Given the description of an element on the screen output the (x, y) to click on. 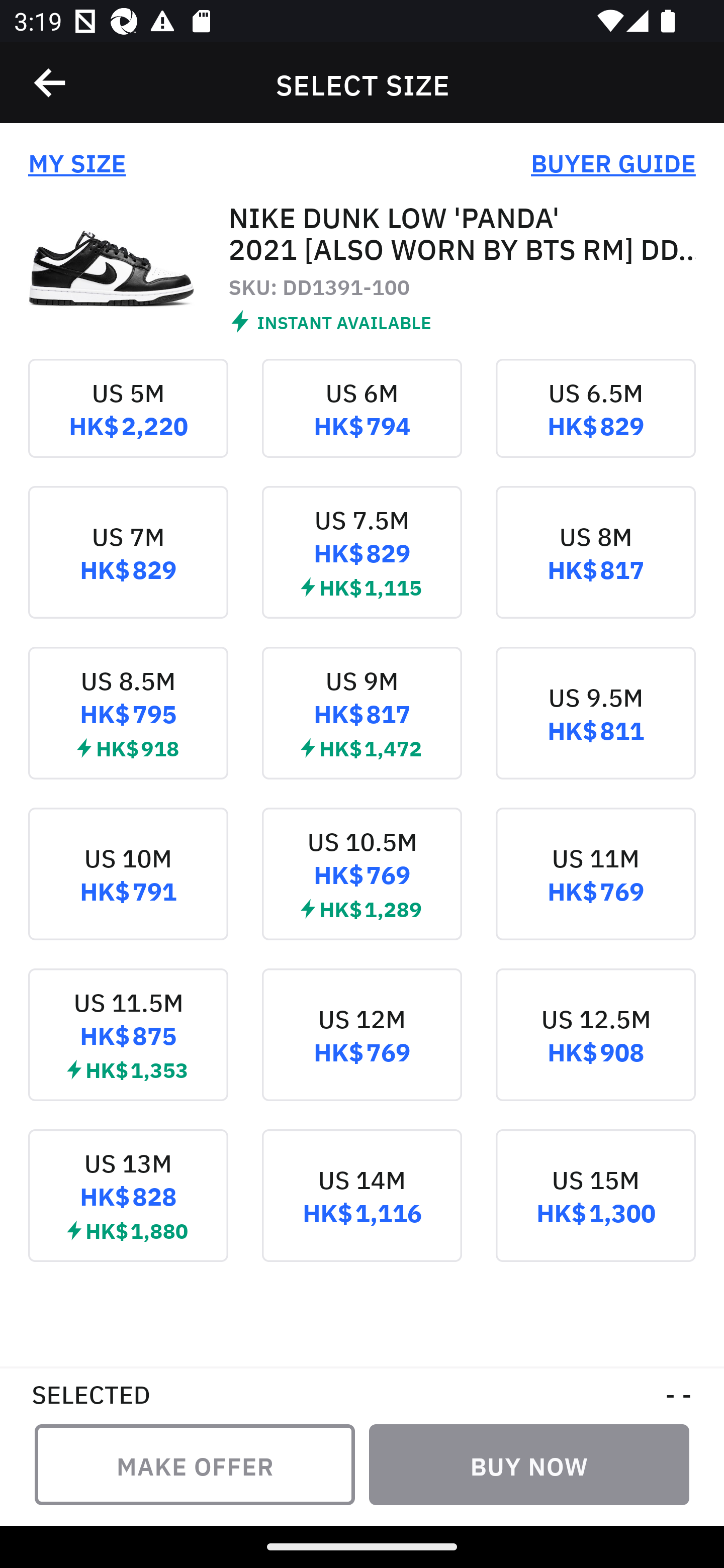
 (50, 83)
US 5M HK$ 2,220 (128, 422)
US 6M HK$ 794 (361, 422)
US 6.5M HK$ 829 (595, 422)
US 7M HK$ 829 (128, 566)
US 7.5M HK$ 829  HK$ 1,115 (361, 566)
US 8M HK$ 817 (595, 566)
US 8.5M HK$ 795  HK$ 918 (128, 726)
US 9M HK$ 817  HK$ 1,472 (361, 726)
US 9.5M HK$ 811 (595, 726)
US 10M HK$ 791 (128, 888)
US 10.5M HK$ 769  HK$ 1,289 (361, 888)
US 11M HK$ 769 (595, 888)
US 11.5M HK$ 875  HK$ 1,353 (128, 1048)
US 12M HK$ 769 (361, 1048)
US 12.5M HK$ 908 (595, 1048)
US 13M HK$ 828  HK$ 1,880 (128, 1209)
US 14M HK$ 1,116 (361, 1209)
US 15M HK$ 1,300 (595, 1209)
MAKE OFFER (194, 1464)
BUY NOW (529, 1464)
